Given the description of an element on the screen output the (x, y) to click on. 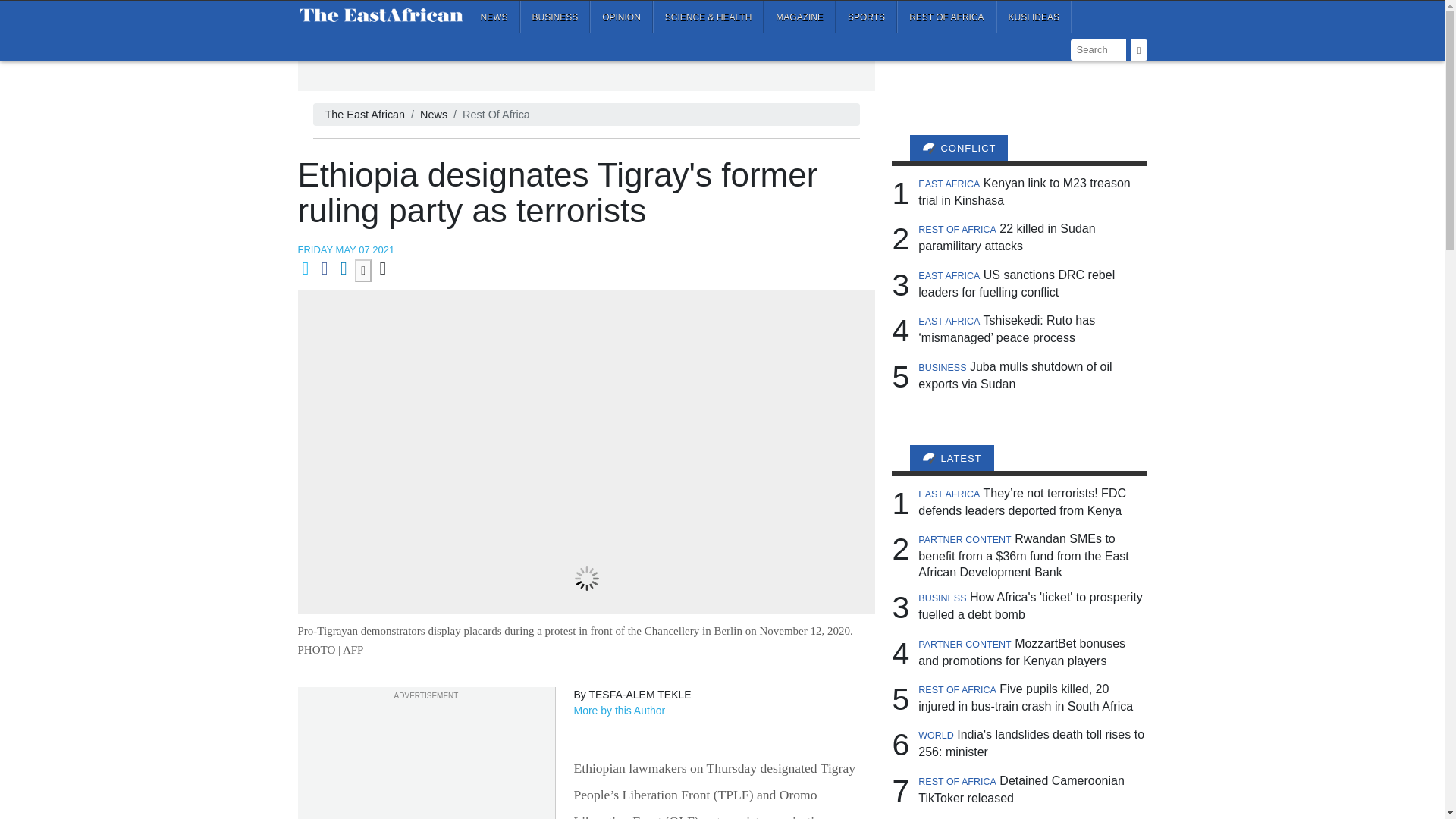
SPORTS (865, 16)
OPINION (620, 16)
BUSINESS (555, 16)
MAGAZINE (798, 16)
NEWS (493, 16)
